Given the description of an element on the screen output the (x, y) to click on. 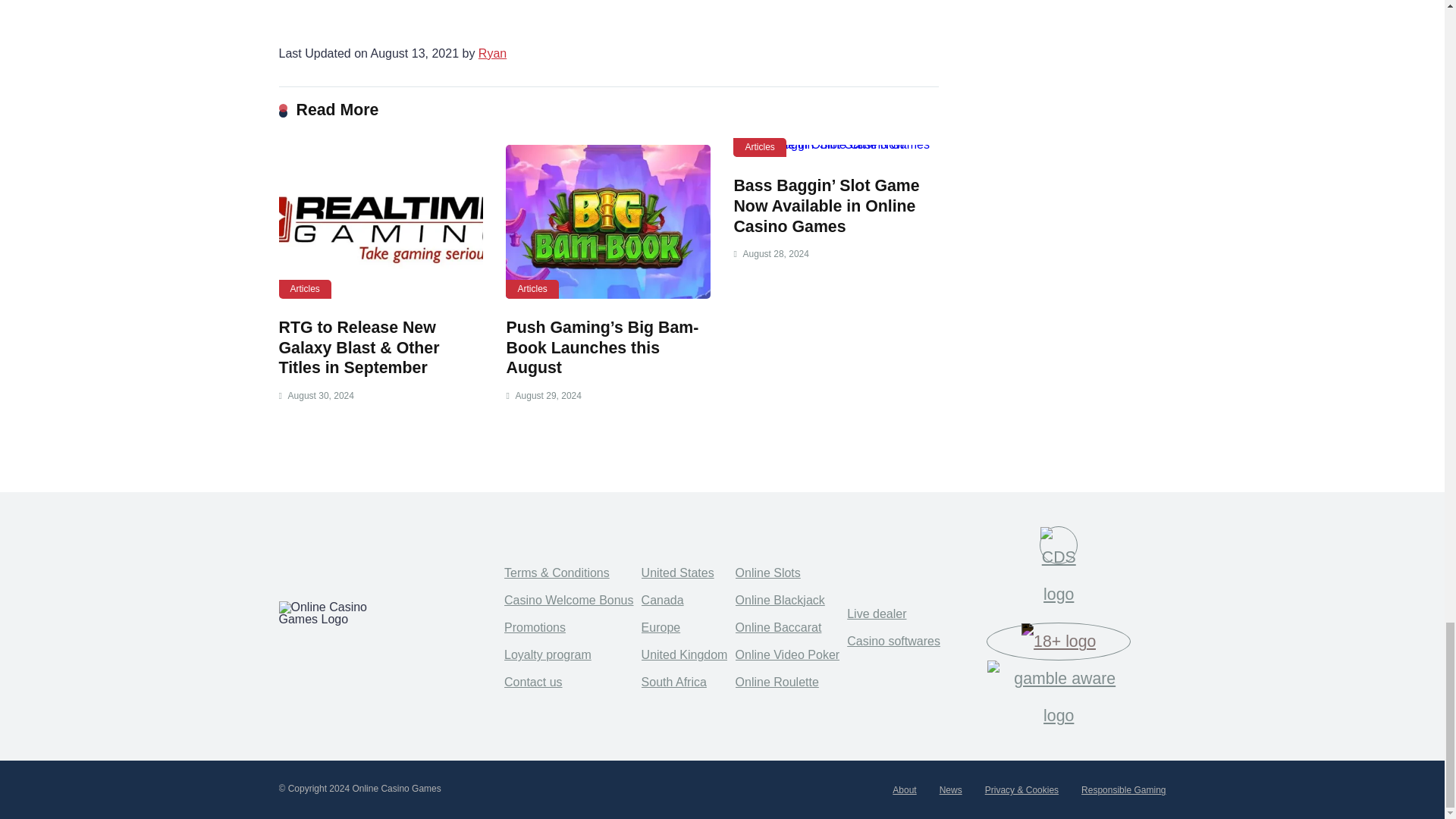
Articles (531, 289)
Articles (759, 147)
Articles (305, 289)
Ryan (492, 52)
